Given the description of an element on the screen output the (x, y) to click on. 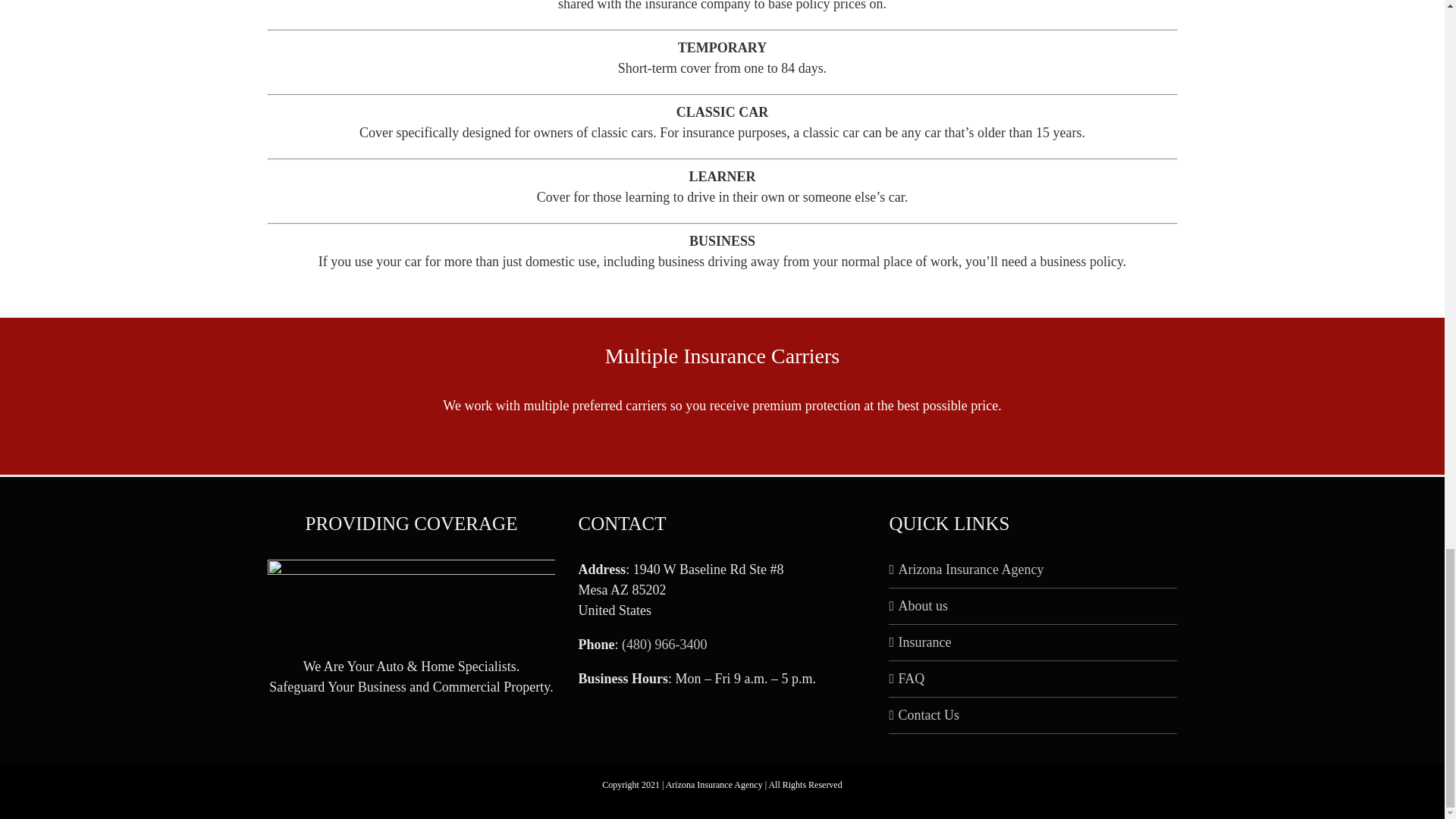
FAQ (1033, 679)
Arizona Insurance Agency (1033, 569)
Insurance (1033, 642)
Contact Us (1033, 715)
About us (1033, 606)
